Given the description of an element on the screen output the (x, y) to click on. 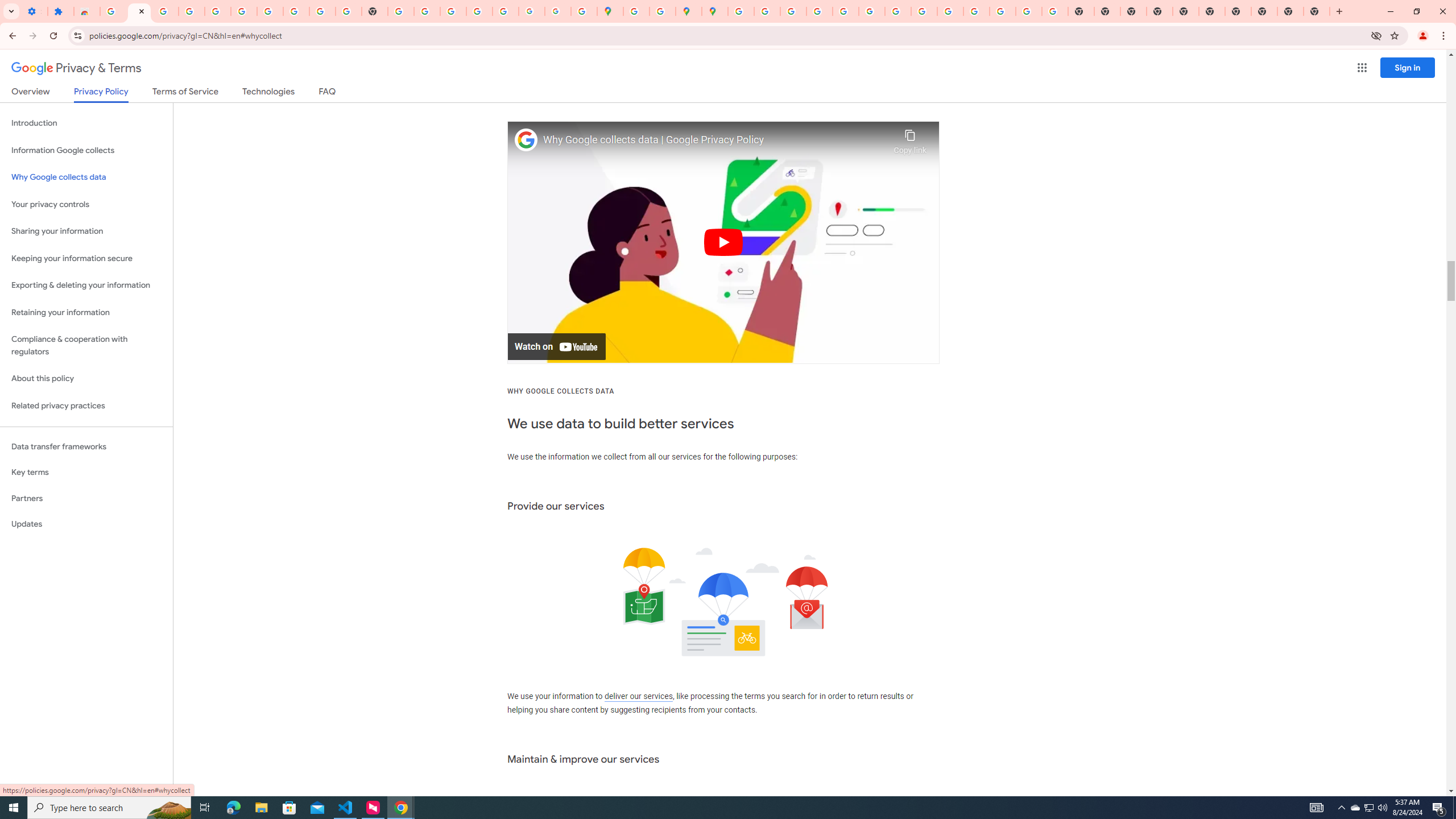
Keeping your information secure (86, 258)
New Tab (1159, 11)
Learn how to find your photos - Google Photos Help (191, 11)
YouTube (322, 11)
Sign in - Google Accounts (740, 11)
https://scholar.google.com/ (400, 11)
Exporting & deleting your information (86, 284)
YouTube (897, 11)
Data transfer frameworks (86, 446)
